Given the description of an element on the screen output the (x, y) to click on. 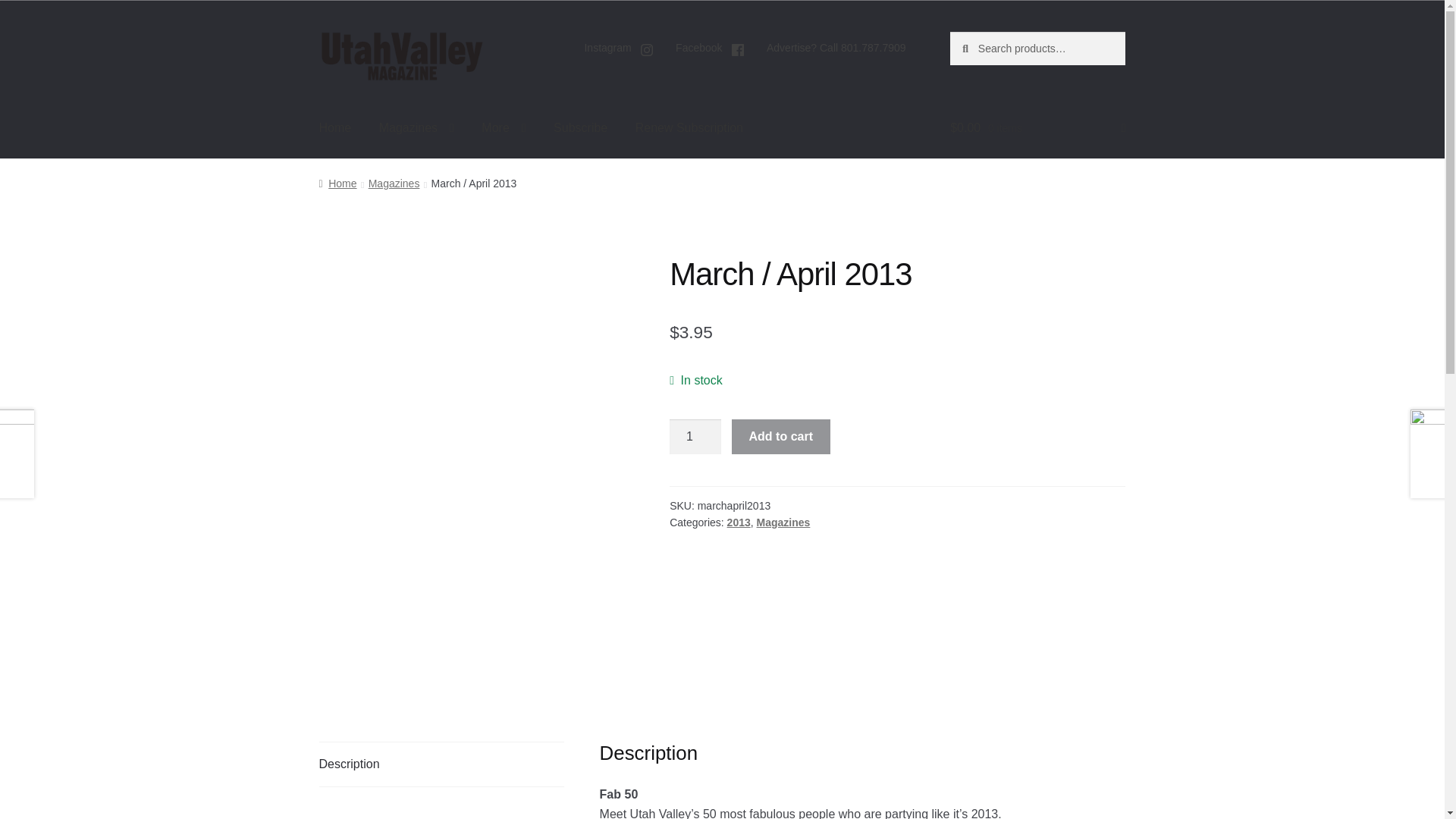
Magazines (415, 128)
Advertise? Call 801.787.7909 (836, 47)
1 (694, 436)
Instagram (619, 49)
Facebook (710, 49)
Home (335, 128)
View your shopping cart (1037, 128)
